Given the description of an element on the screen output the (x, y) to click on. 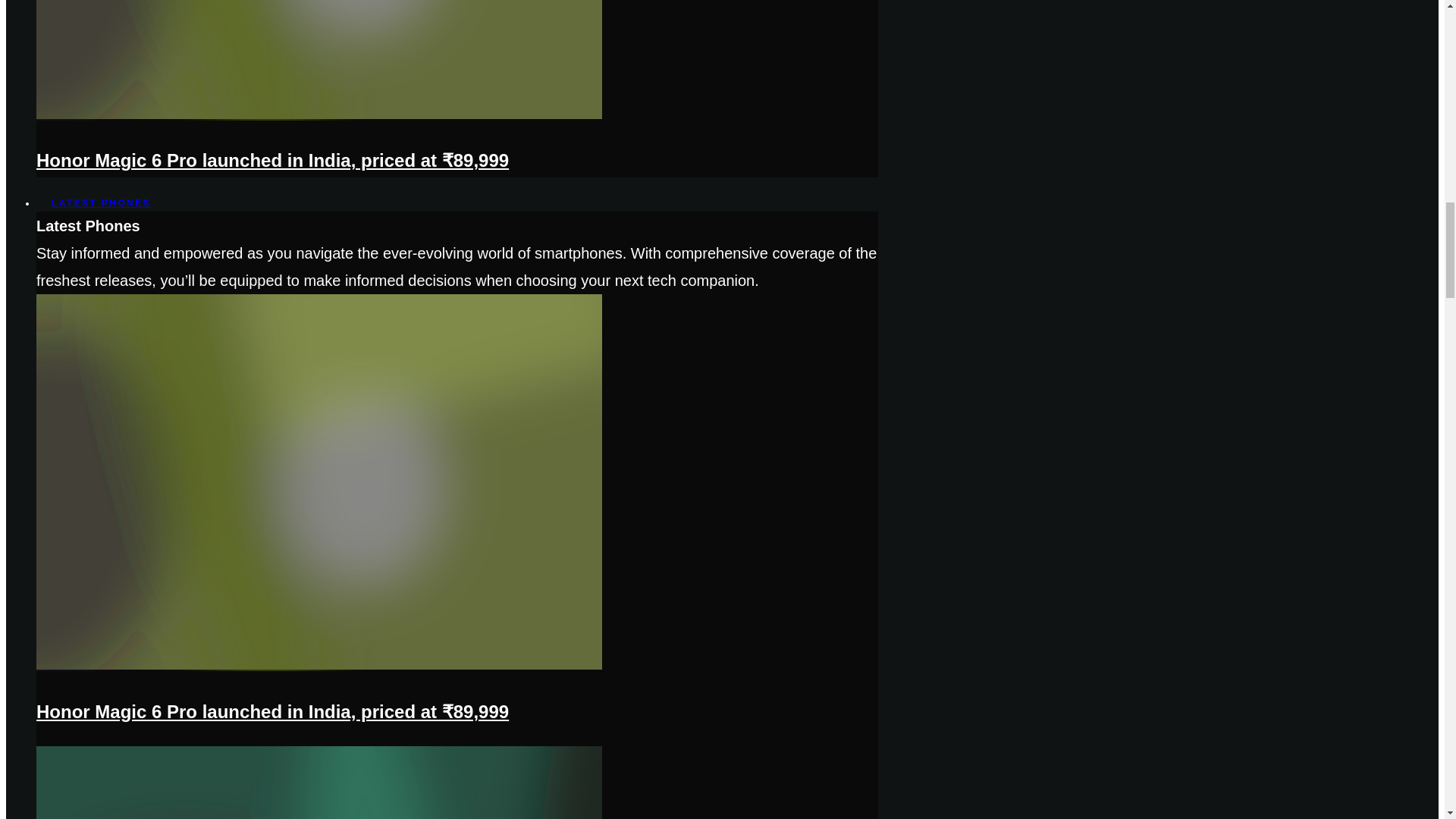
Honor Magic 6 Pro Green (319, 117)
Honor Magic 6 Pro Green (319, 667)
LATEST PHONES (100, 203)
